Given the description of an element on the screen output the (x, y) to click on. 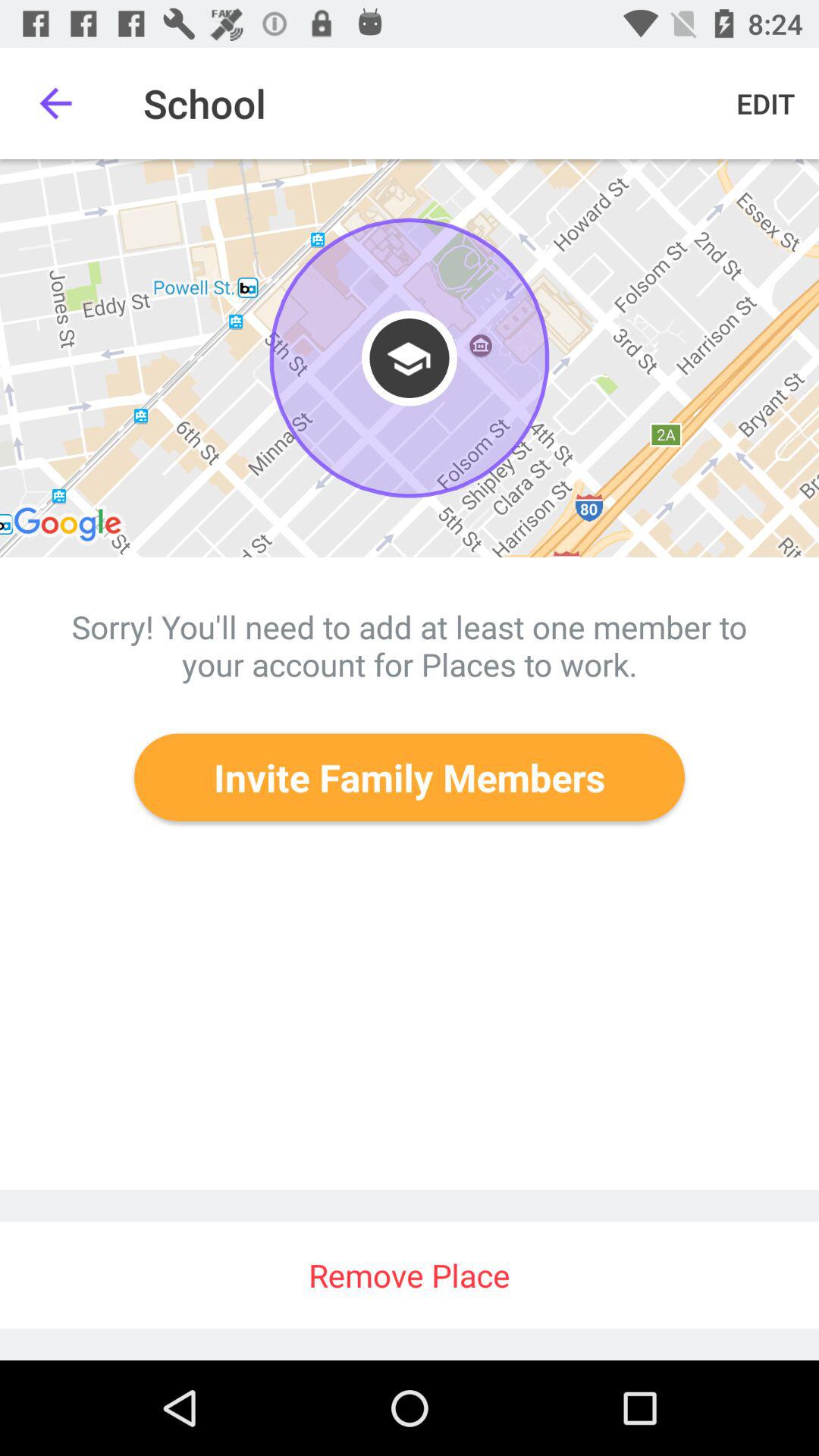
launch item below sorry you ll icon (409, 777)
